Given the description of an element on the screen output the (x, y) to click on. 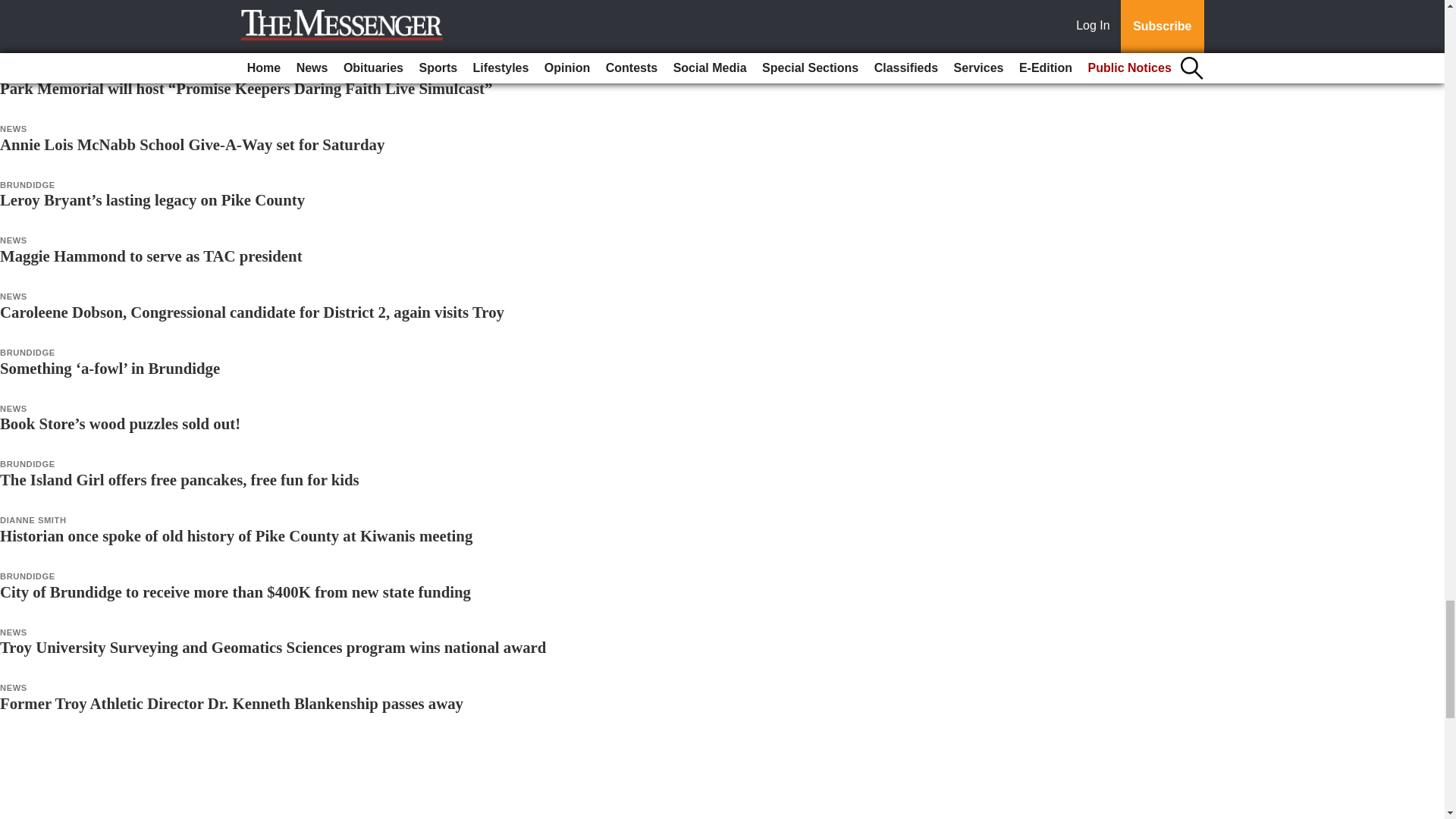
Maggie Hammond to serve as TAC president (151, 255)
Mama Jays free pancake breakfast is Saturday (157, 31)
Annie Lois McNabb School Give-A-Way set for Saturday (192, 144)
